Given the description of an element on the screen output the (x, y) to click on. 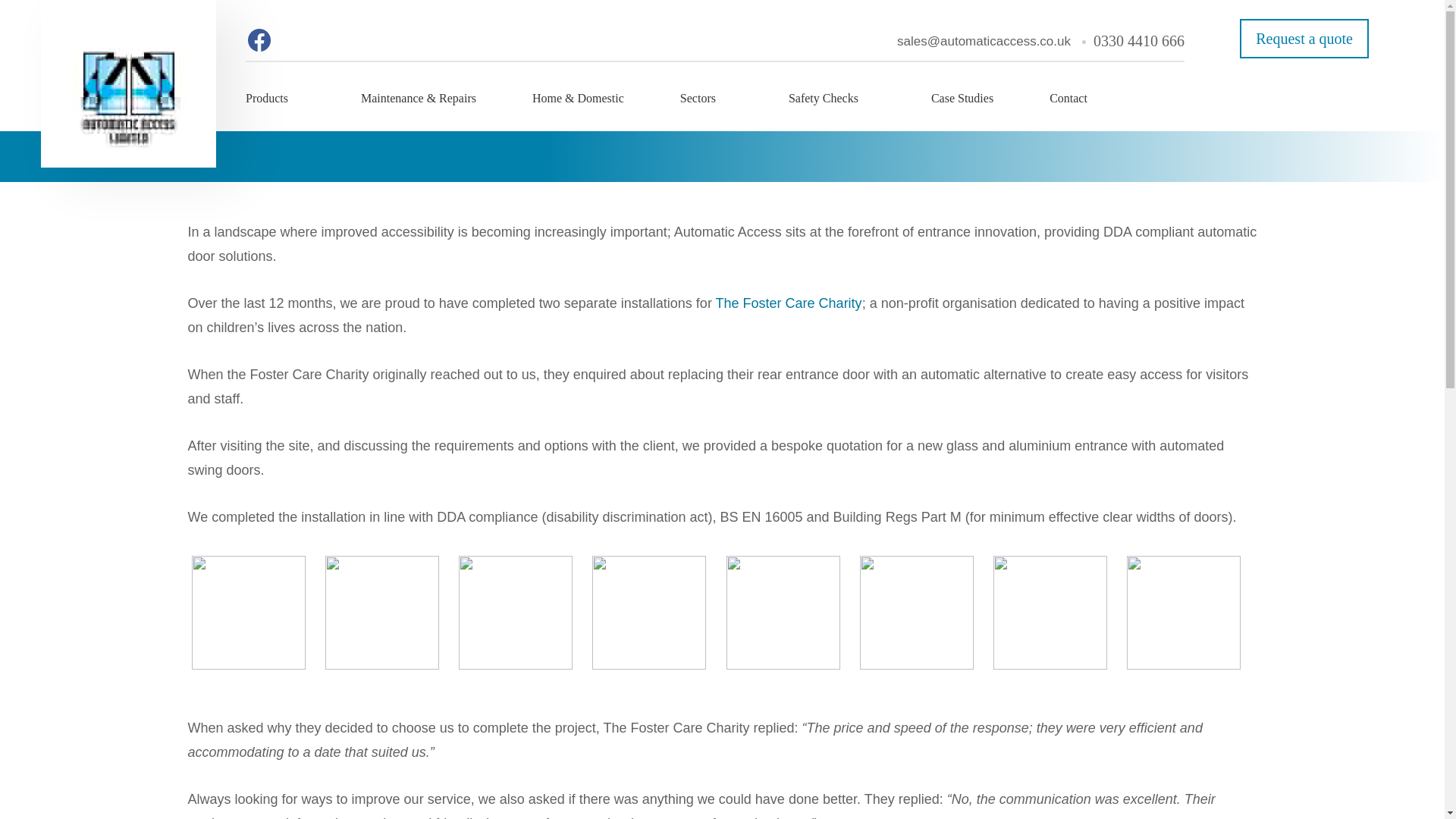
Sectors (697, 108)
Request a quote (1304, 38)
Case Studies (961, 108)
Safety Checks (824, 108)
Products (267, 108)
0330 4410 666 (1139, 40)
Contact (1068, 108)
Automatic Access Limited (127, 83)
Request a quote (1304, 38)
